Given the description of an element on the screen output the (x, y) to click on. 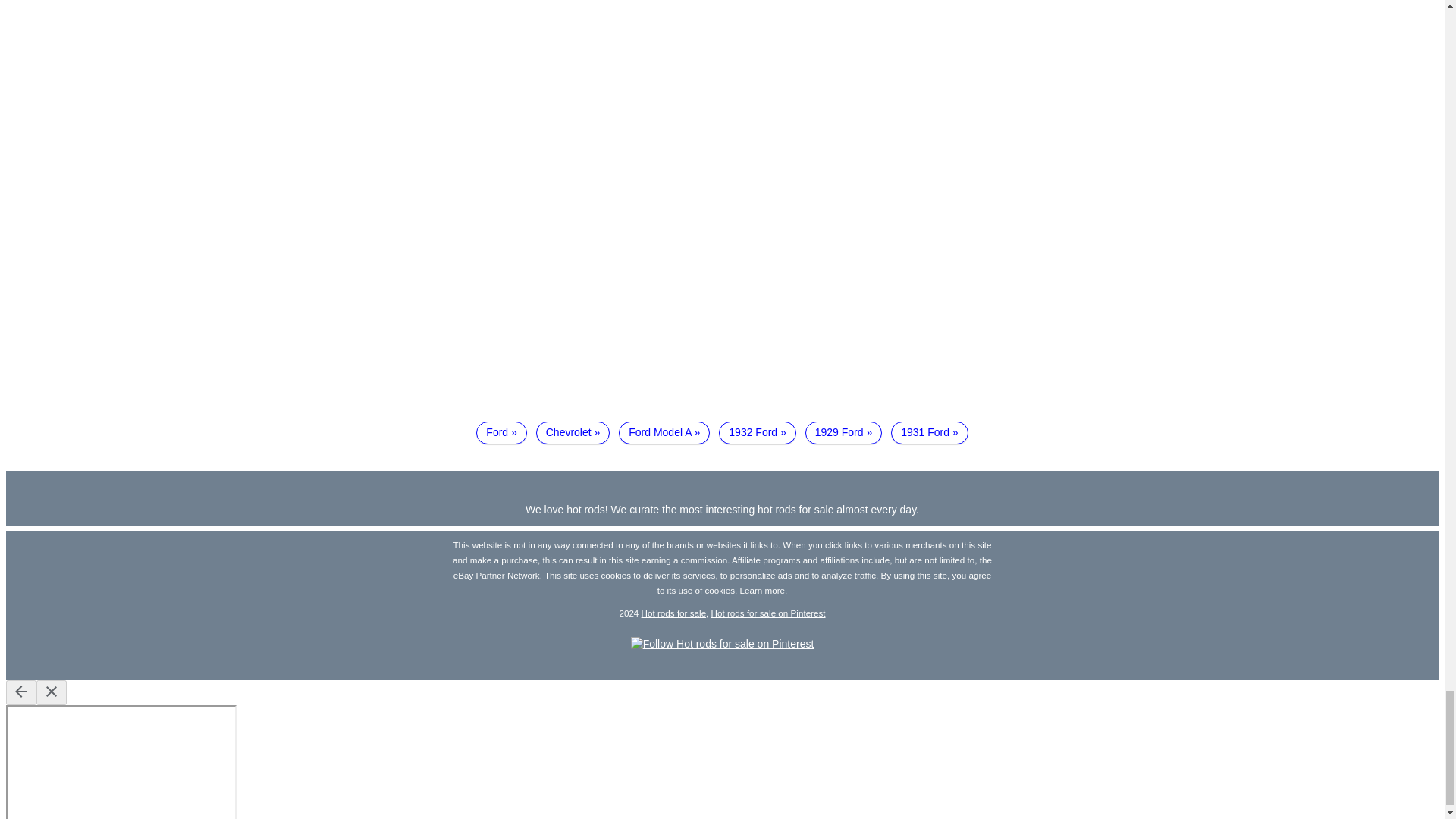
1929 Ford (843, 432)
Follow Hot rods for sale on Pinterest (721, 644)
1931 Ford (929, 432)
Chevrolet (572, 432)
1932 Ford (757, 432)
Hot rods for sale on Pinterest (768, 613)
Ford Model A (664, 432)
Learn more (762, 590)
Hot rods for sale (674, 613)
Ford (500, 432)
